Given the description of an element on the screen output the (x, y) to click on. 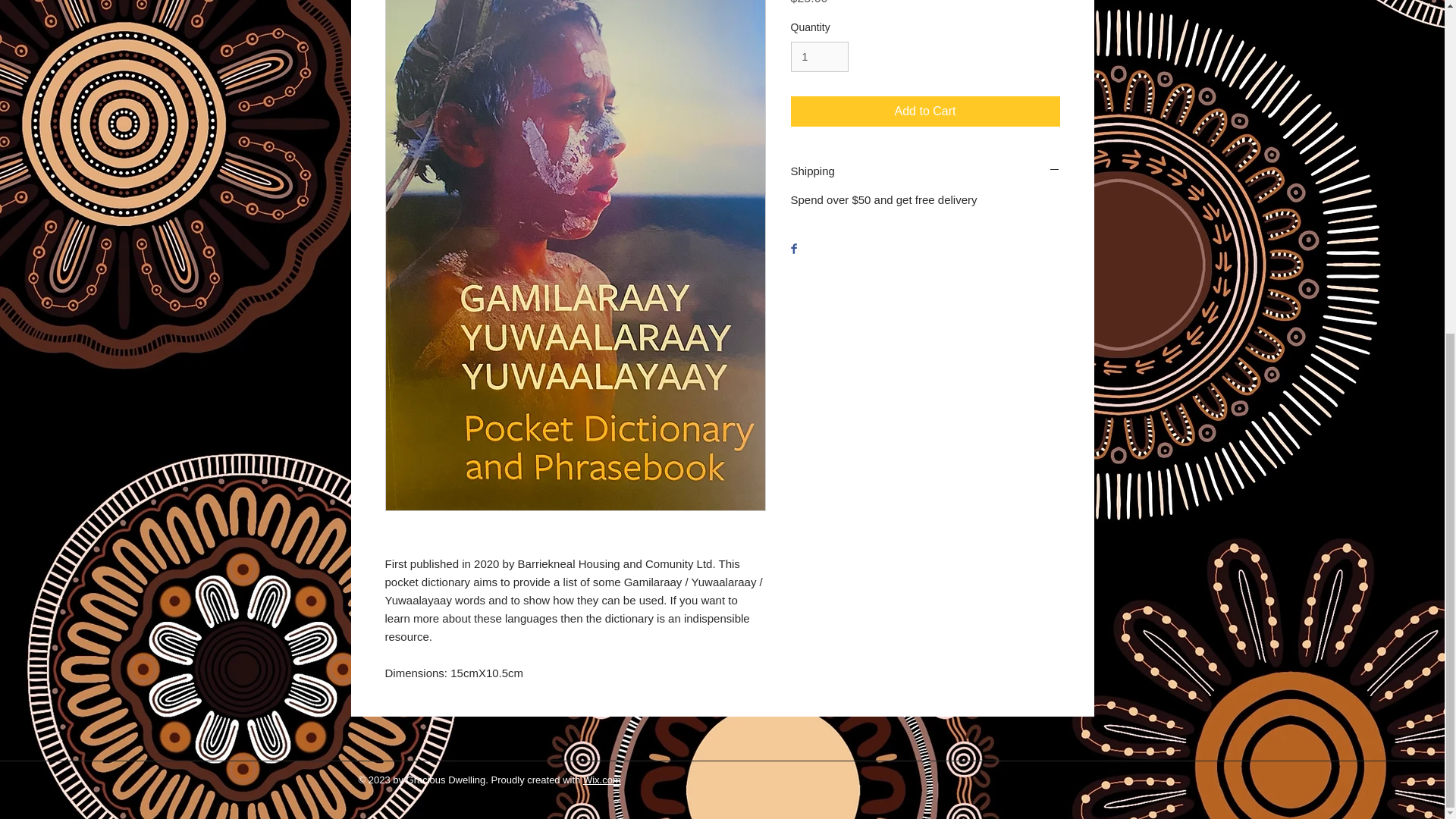
Shipping (924, 170)
Wix.com (602, 779)
1 (818, 56)
Add to Cart (924, 111)
